Given the description of an element on the screen output the (x, y) to click on. 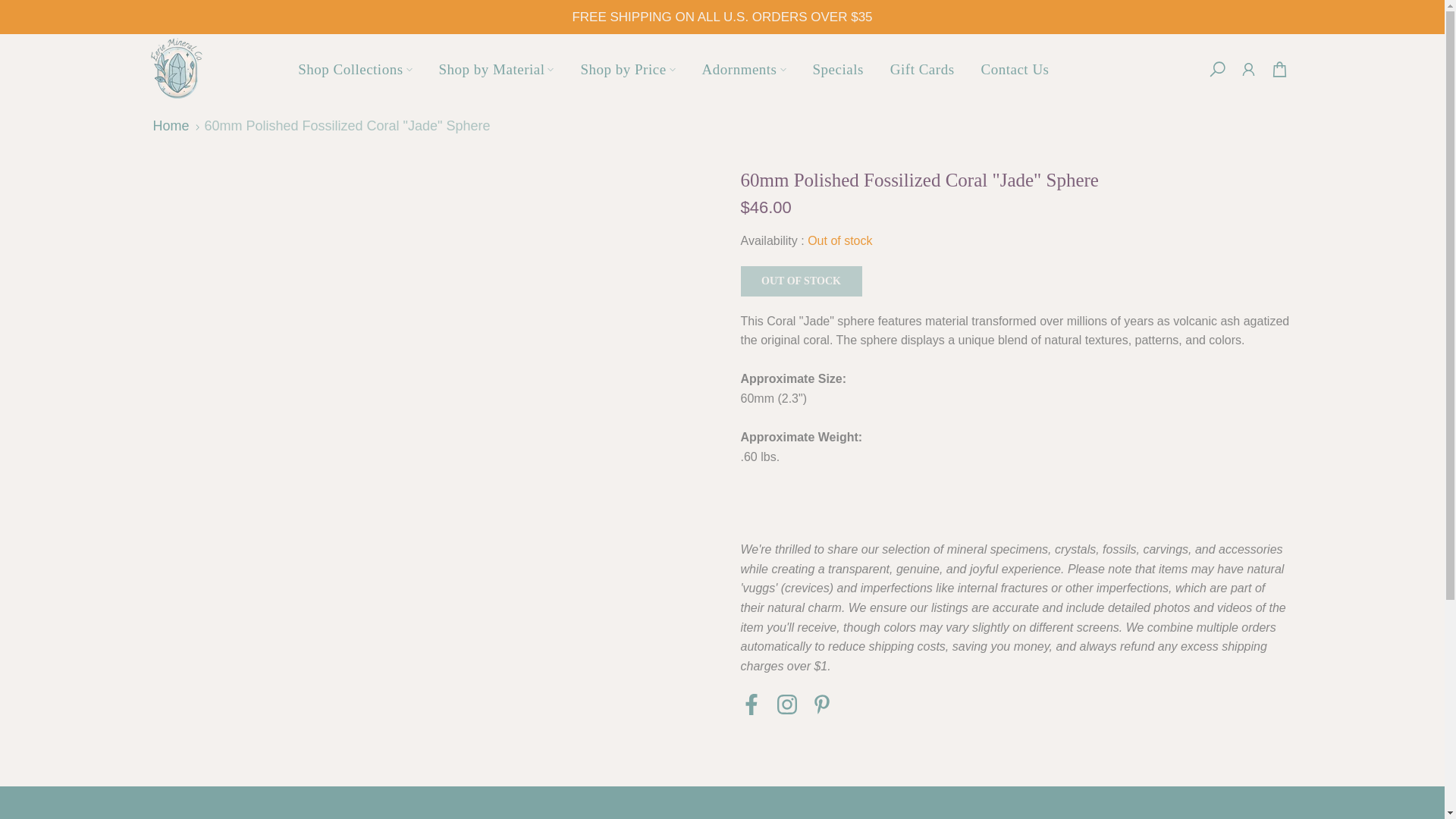
Home (170, 125)
Gift Cards (922, 69)
Contact Us (1015, 69)
Specials (837, 69)
Skip to content (10, 7)
Shop by Price (627, 69)
Shop Collections (355, 69)
Shop by Material (496, 69)
Adornments (743, 69)
OUT OF STOCK (800, 281)
